Given the description of an element on the screen output the (x, y) to click on. 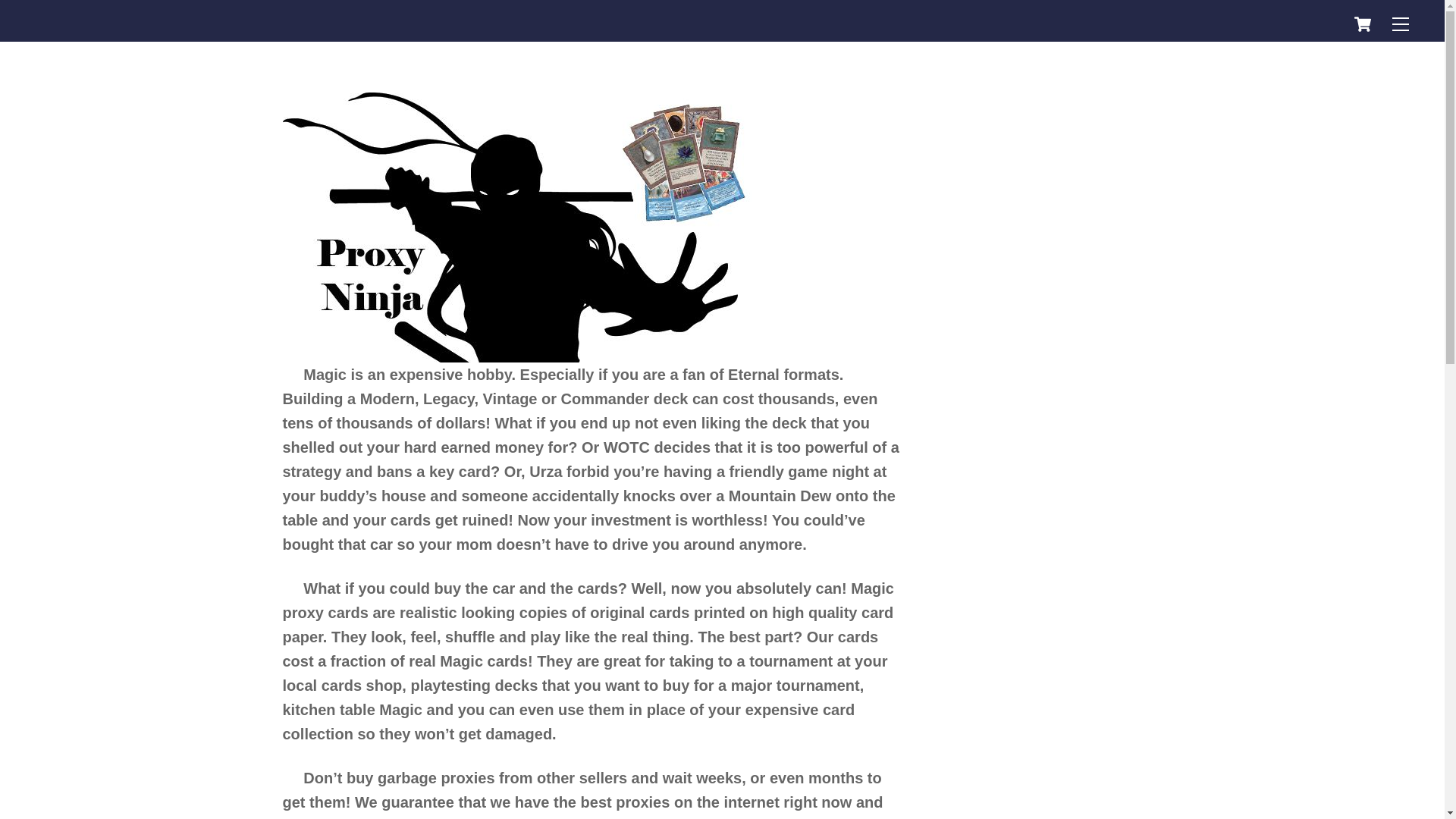
pn logo (521, 227)
Cart (1362, 24)
Menu (1400, 23)
